Given the description of an element on the screen output the (x, y) to click on. 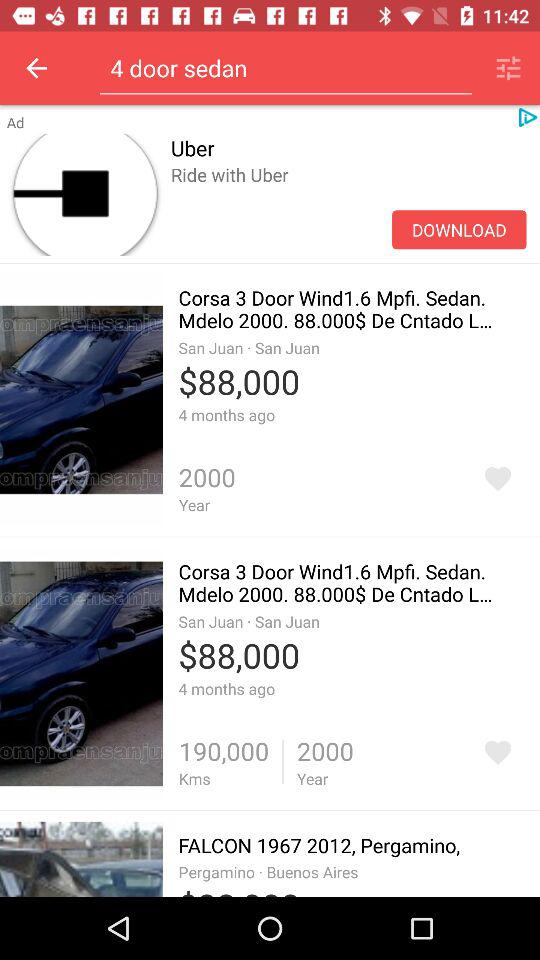
select the ride with uber item (348, 195)
